Given the description of an element on the screen output the (x, y) to click on. 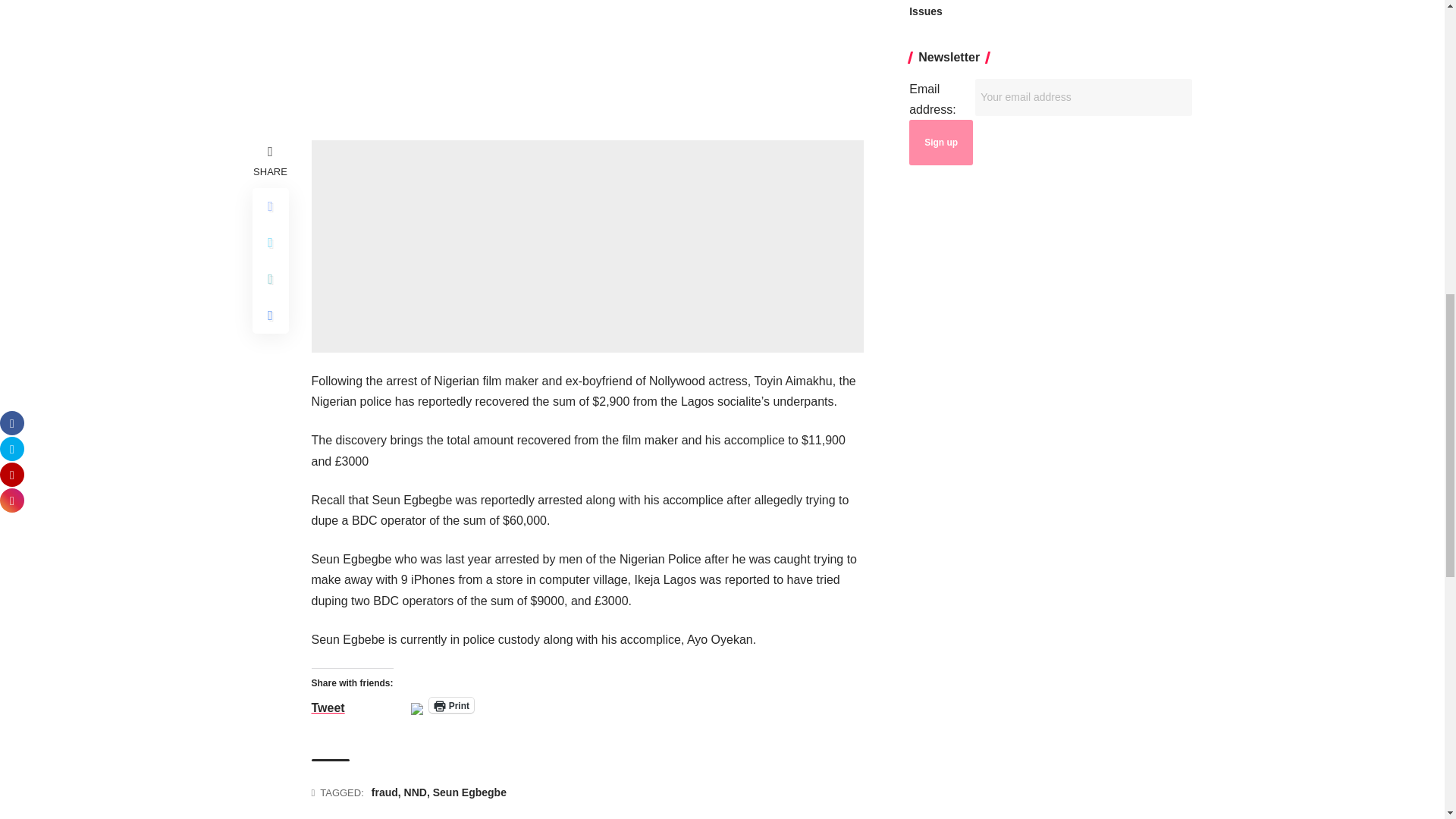
Advertisement (587, 246)
Click to print (451, 704)
Sign up (940, 142)
